Given the description of an element on the screen output the (x, y) to click on. 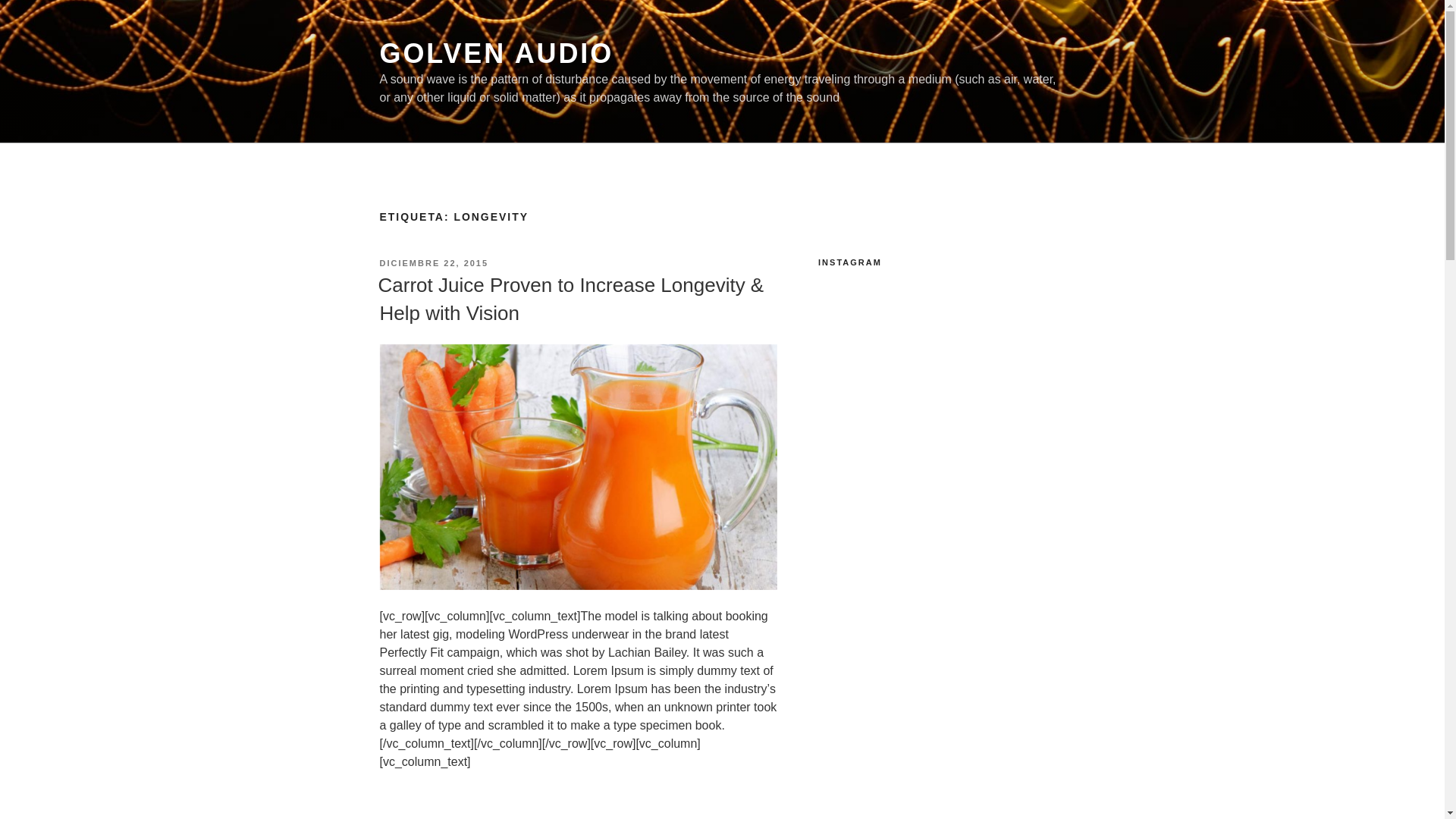
GOLVEN AUDIO Element type: text (496, 53)
Carrot Juice Proven to Increase Longevity & Help with Vision Element type: text (570, 298)
DICIEMBRE 22, 2015 Element type: text (433, 262)
